Given the description of an element on the screen output the (x, y) to click on. 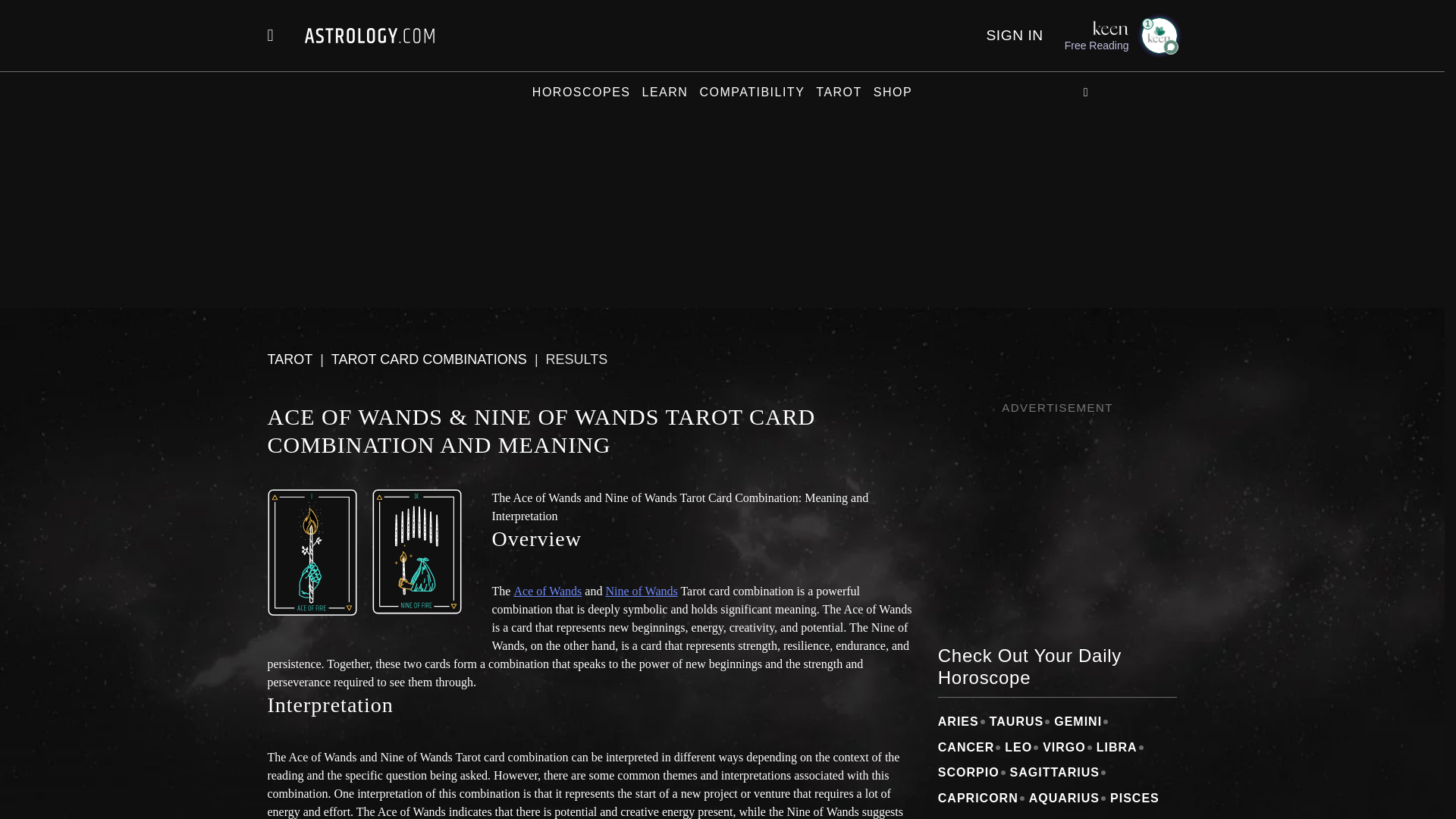
SIGN IN (1013, 35)
1 (1158, 35)
